Given the description of an element on the screen output the (x, y) to click on. 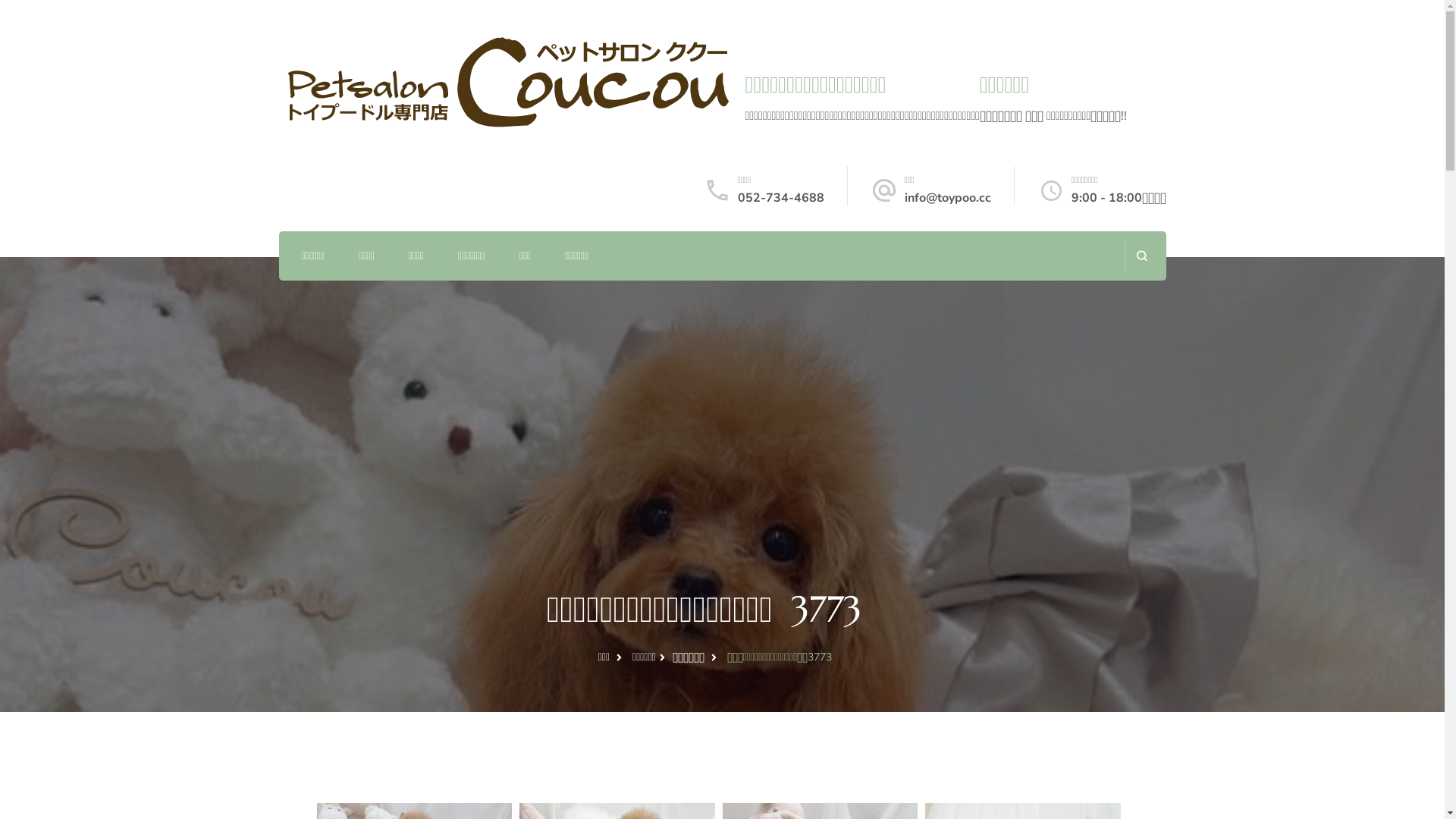
052-734-4688 Element type: text (780, 197)
info@toypoo.cc Element type: text (946, 197)
